Given the description of an element on the screen output the (x, y) to click on. 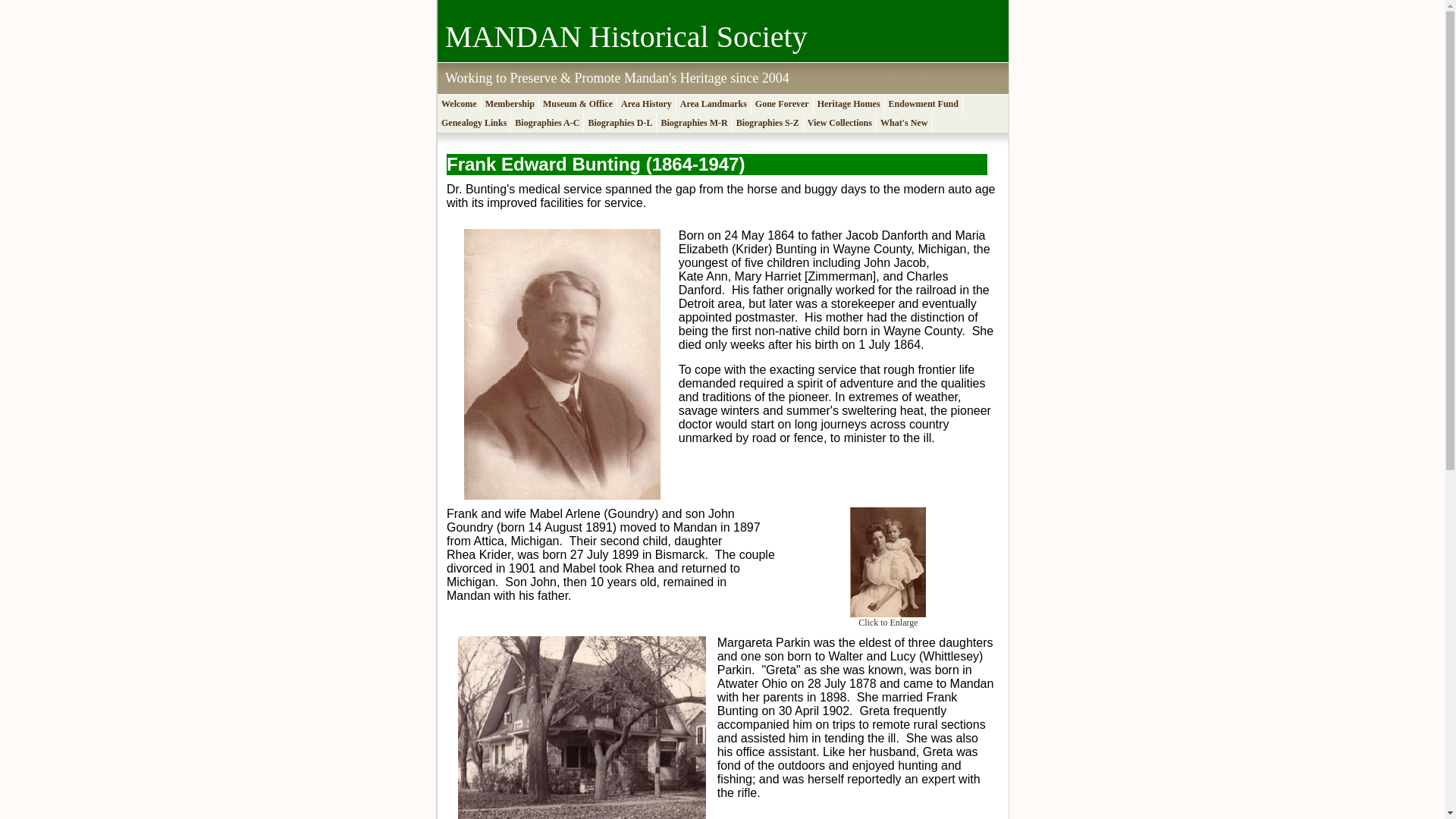
Membership (509, 104)
Welcome (459, 104)
Area Landmarks (714, 104)
Area History (647, 104)
